Given the description of an element on the screen output the (x, y) to click on. 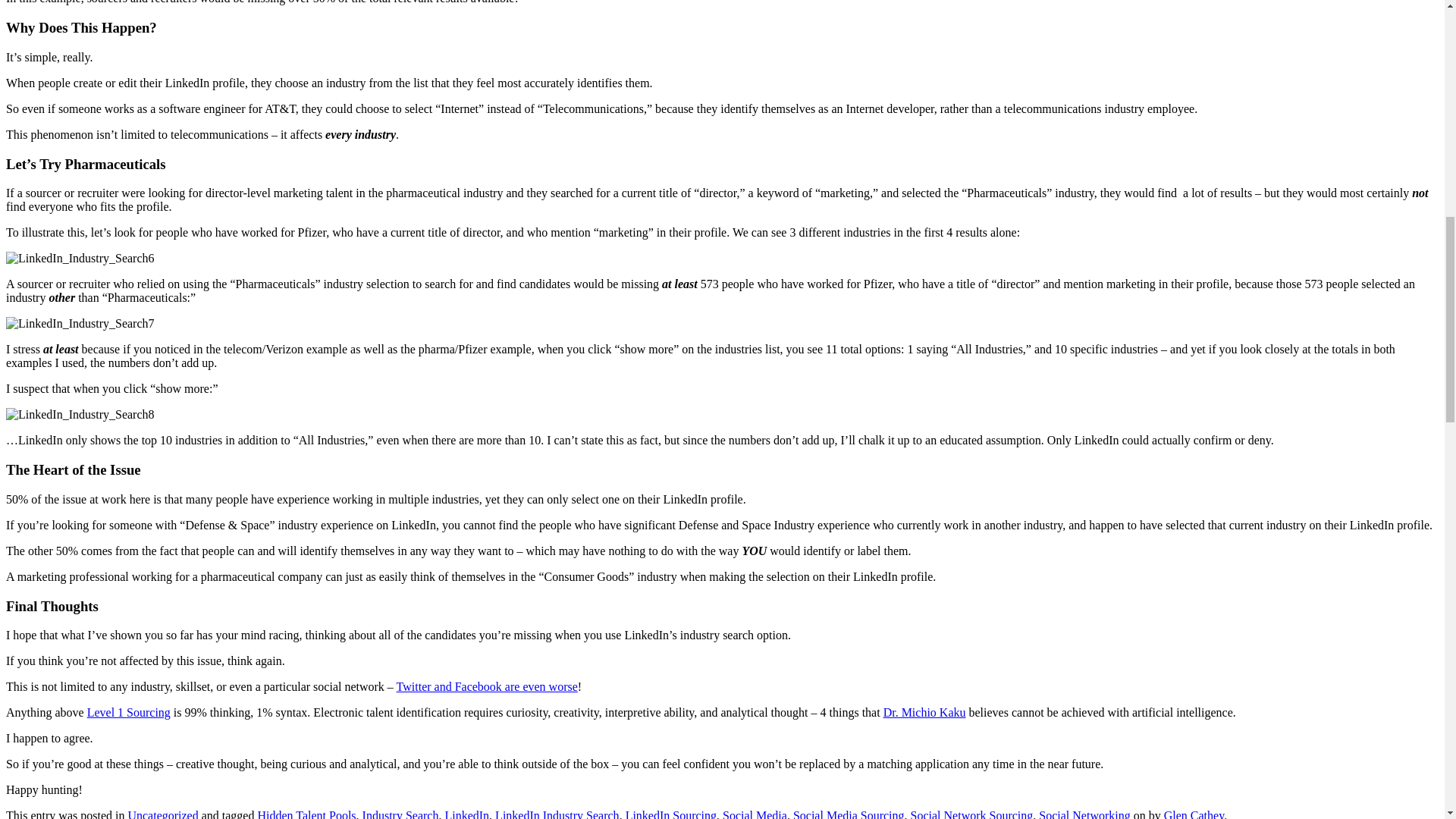
View all posts by Glen Cathey (1193, 814)
Twitter and Facebook are even worse (487, 686)
Social Media (754, 814)
Glen Cathey (1193, 814)
Level 1 Sourcing (128, 712)
LinkedIn Industry Search (557, 814)
Hidden Talent Pools (306, 814)
Social Network Sourcing (972, 814)
Industry Search (400, 814)
Social Networking (1084, 814)
Uncategorized (163, 814)
LinkedIn (466, 814)
LinkedIn Sourcing (671, 814)
